Given the description of an element on the screen output the (x, y) to click on. 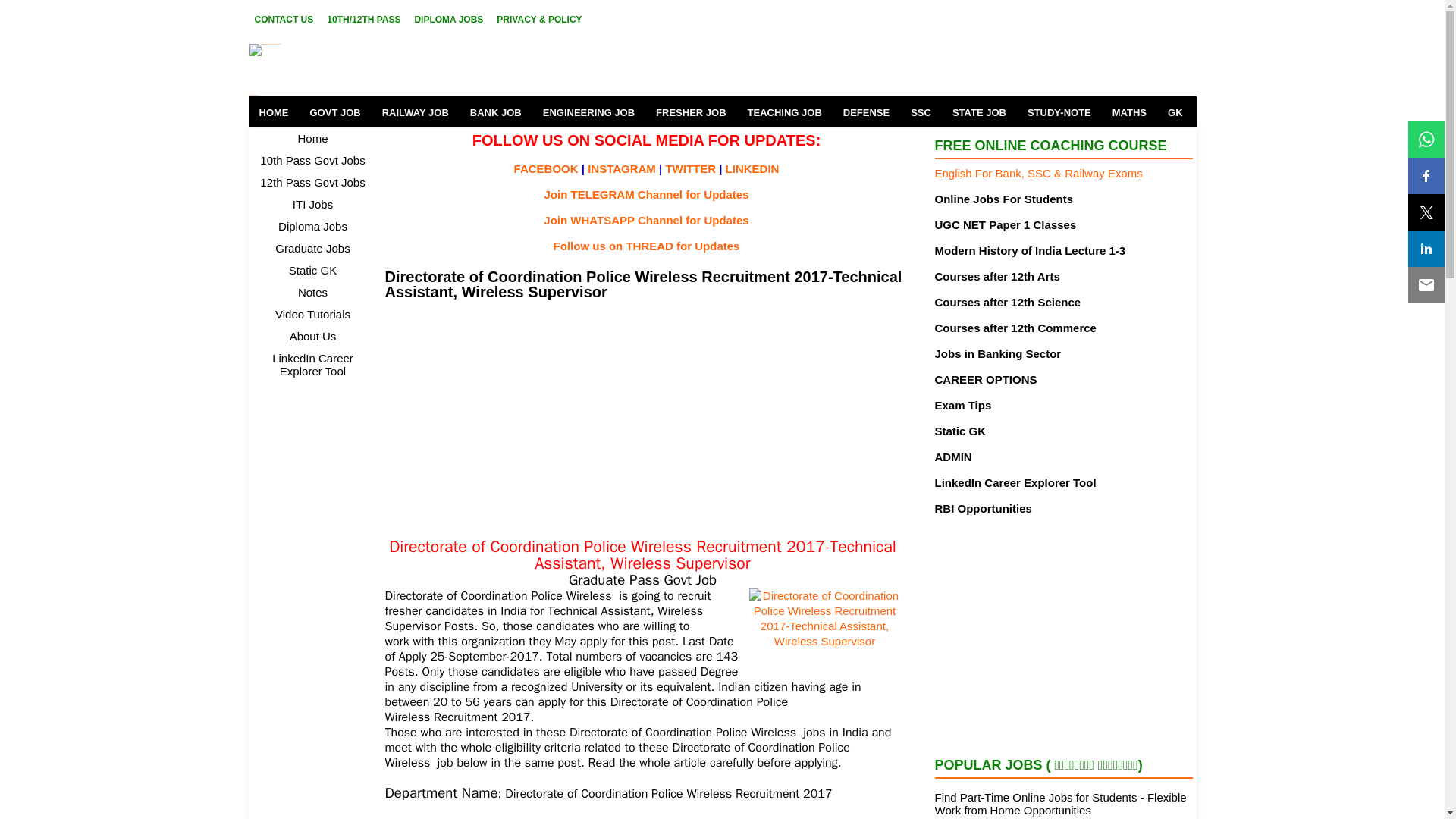
Advertisement (643, 418)
STATE JOB (979, 111)
TEACHING JOB (784, 111)
DEFENSE (865, 111)
HOME (273, 111)
BANK JOB (496, 111)
Advertisement (1063, 633)
RAILWAY JOB (415, 111)
CONTACT US (284, 19)
ENGINEERING JOB (588, 111)
Government Jobs in India (390, 69)
STUDY-NOTE (1059, 111)
SSC (920, 111)
FRESHER JOB (690, 111)
DIPLOMA JOBS (448, 19)
